Given the description of an element on the screen output the (x, y) to click on. 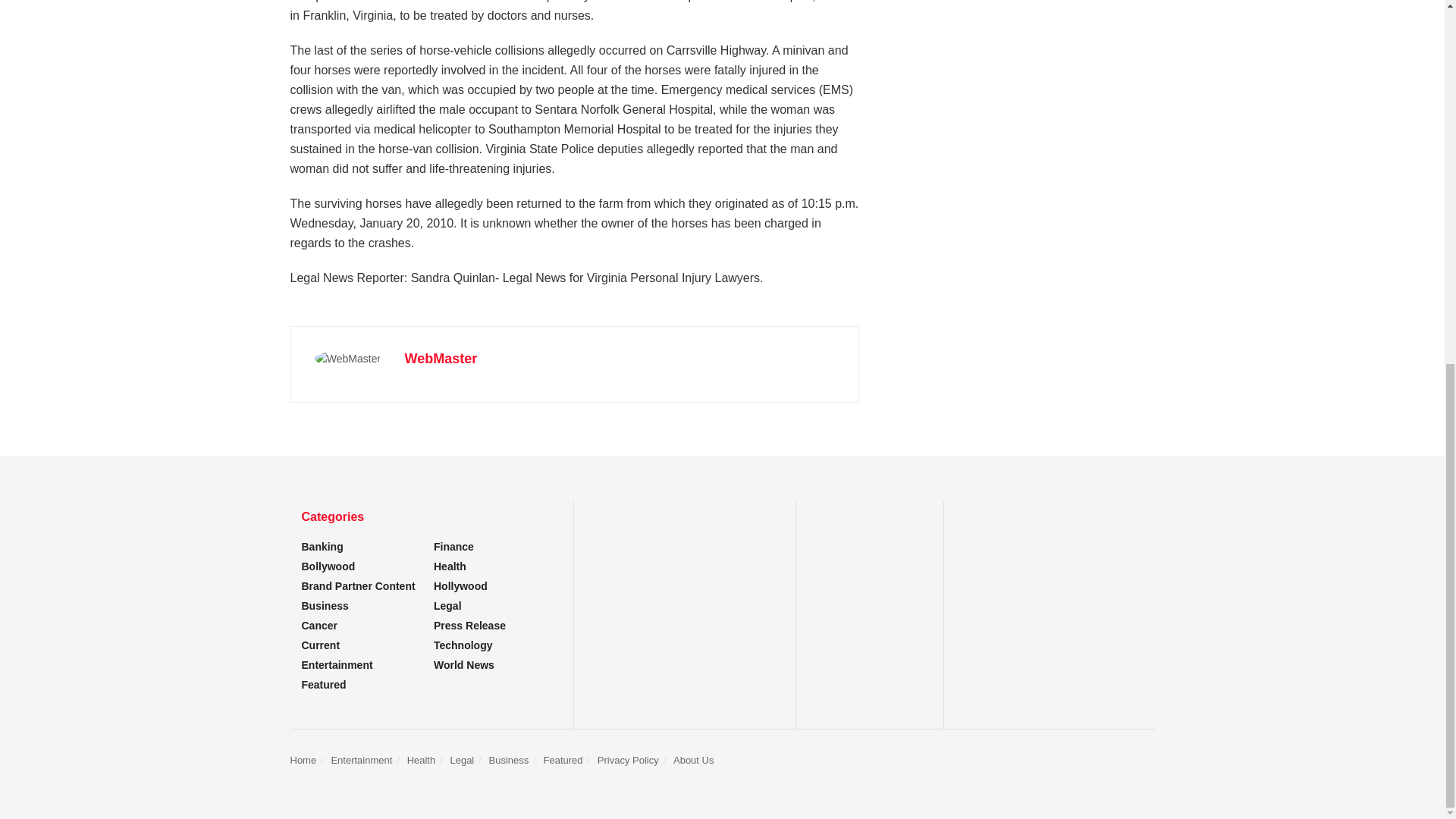
WebMaster (440, 358)
Bollywood (328, 566)
Banking (322, 546)
